Given the description of an element on the screen output the (x, y) to click on. 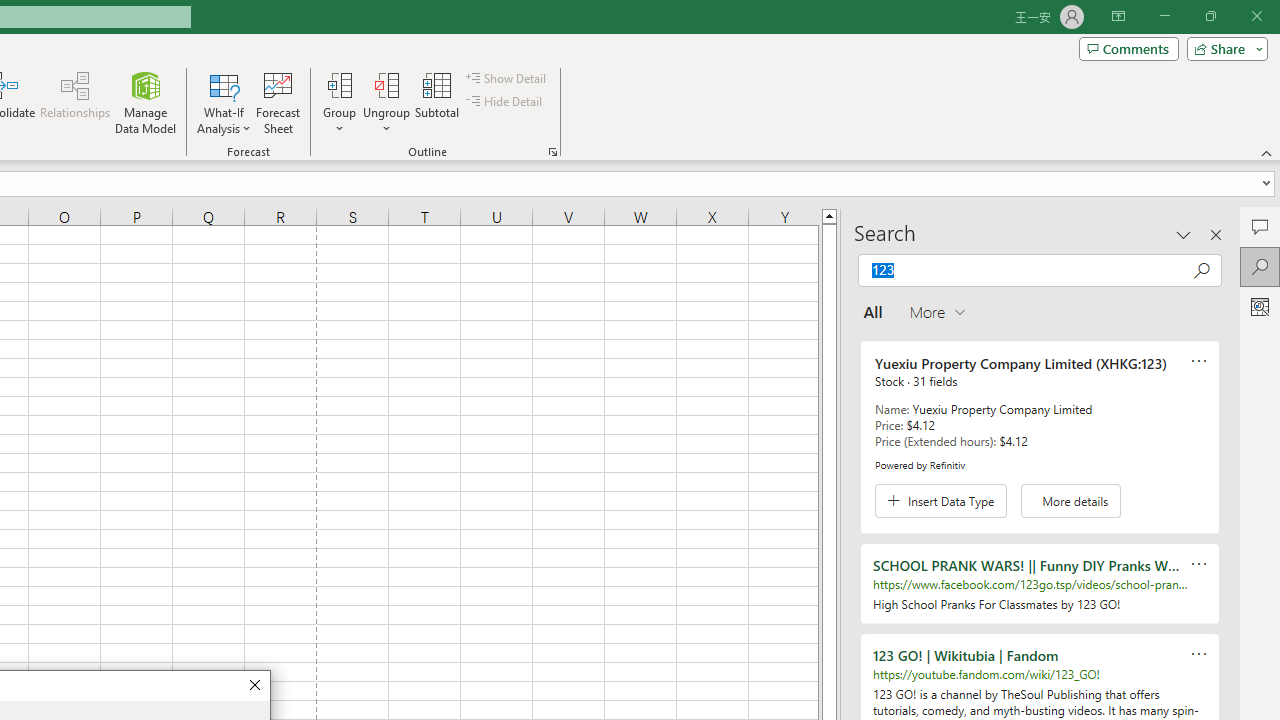
Analyze Data (1260, 306)
Close pane (1215, 234)
Task Pane Options (1183, 234)
Show Detail (507, 78)
Manage Data Model (145, 102)
Forecast Sheet (278, 102)
